Given the description of an element on the screen output the (x, y) to click on. 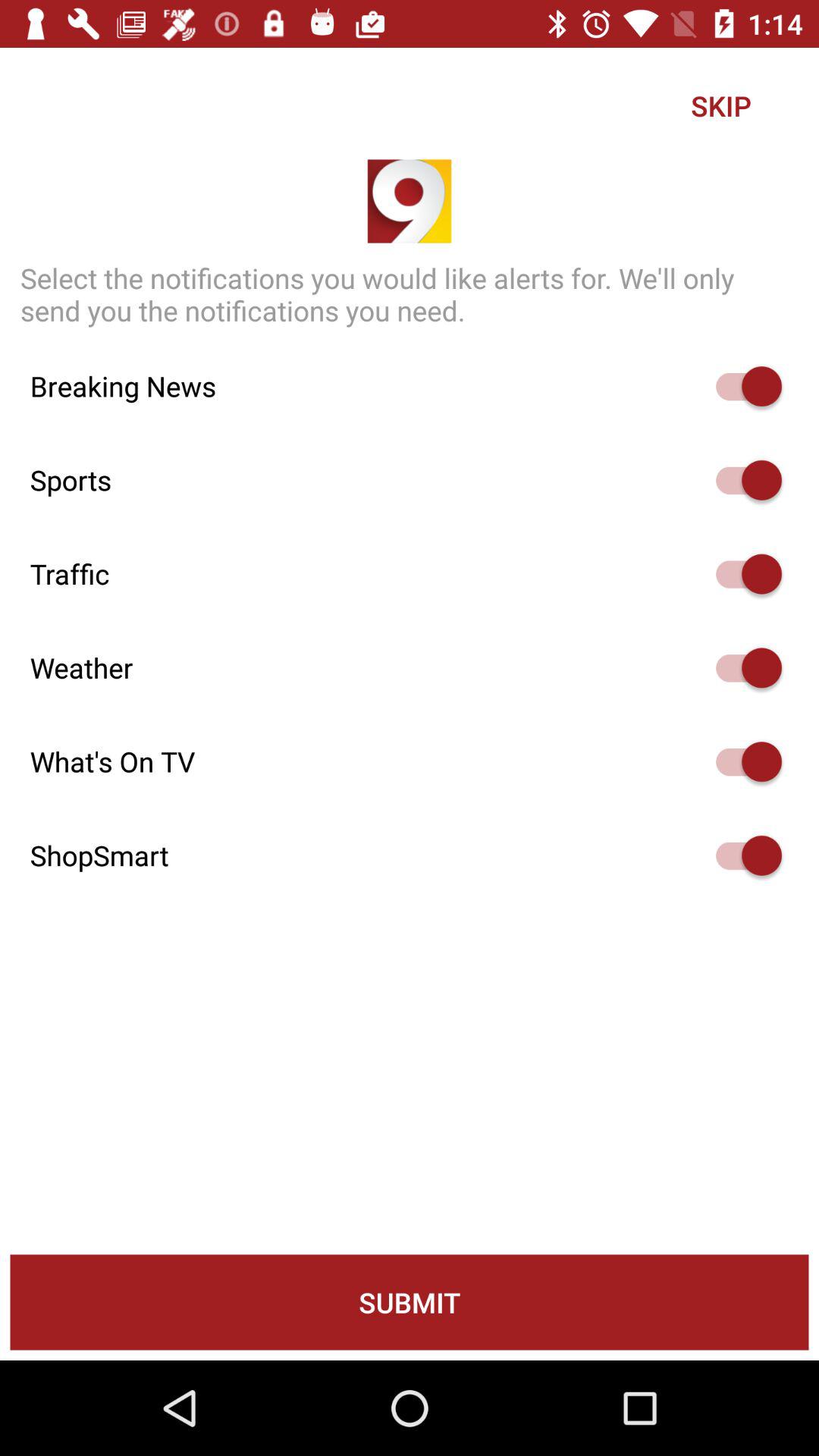
scroll until the skip (720, 105)
